Given the description of an element on the screen output the (x, y) to click on. 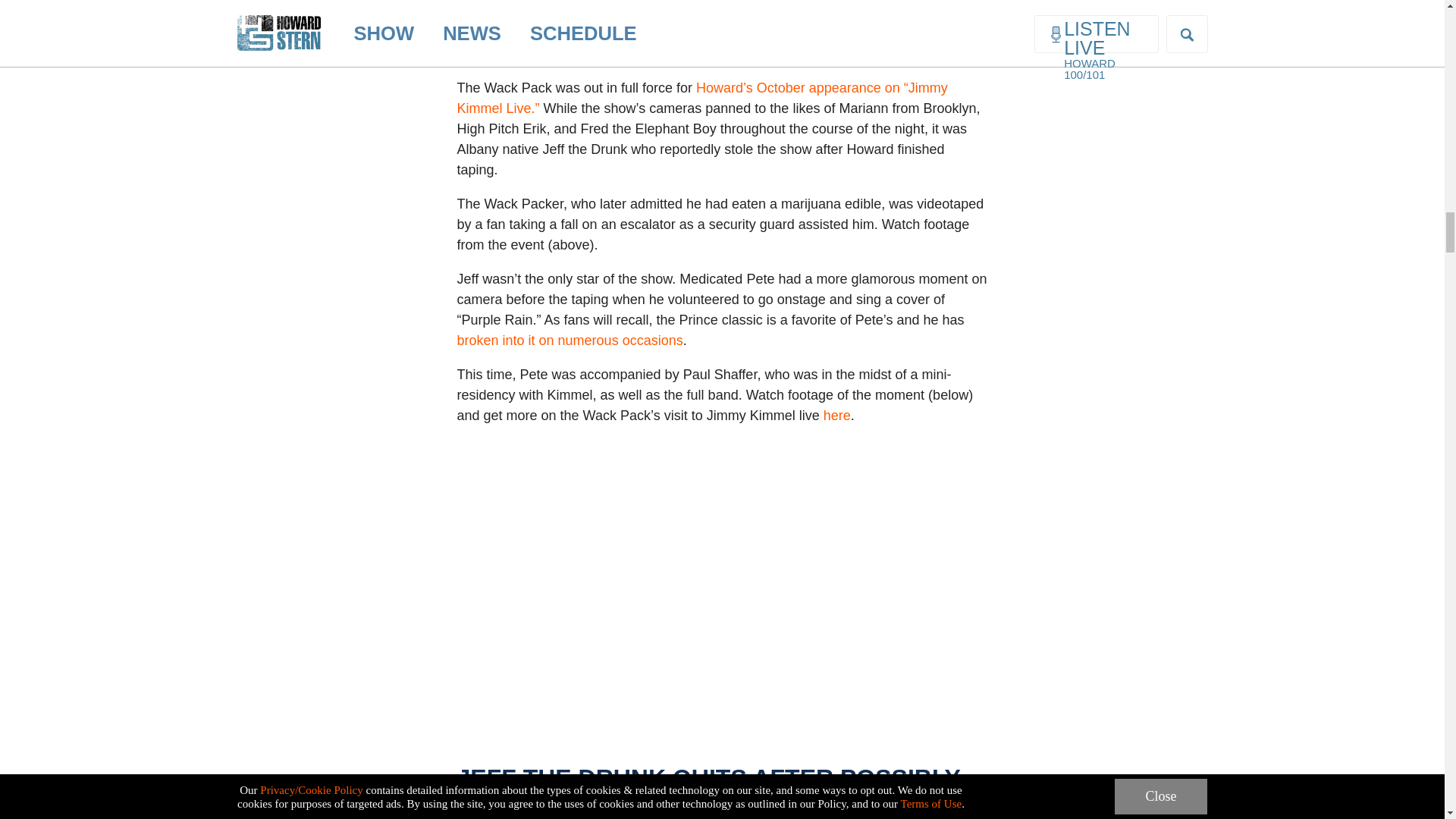
here (837, 415)
Jeff the Drunk falling (721, 58)
broken into it on numerous occasions (569, 340)
